Given the description of an element on the screen output the (x, y) to click on. 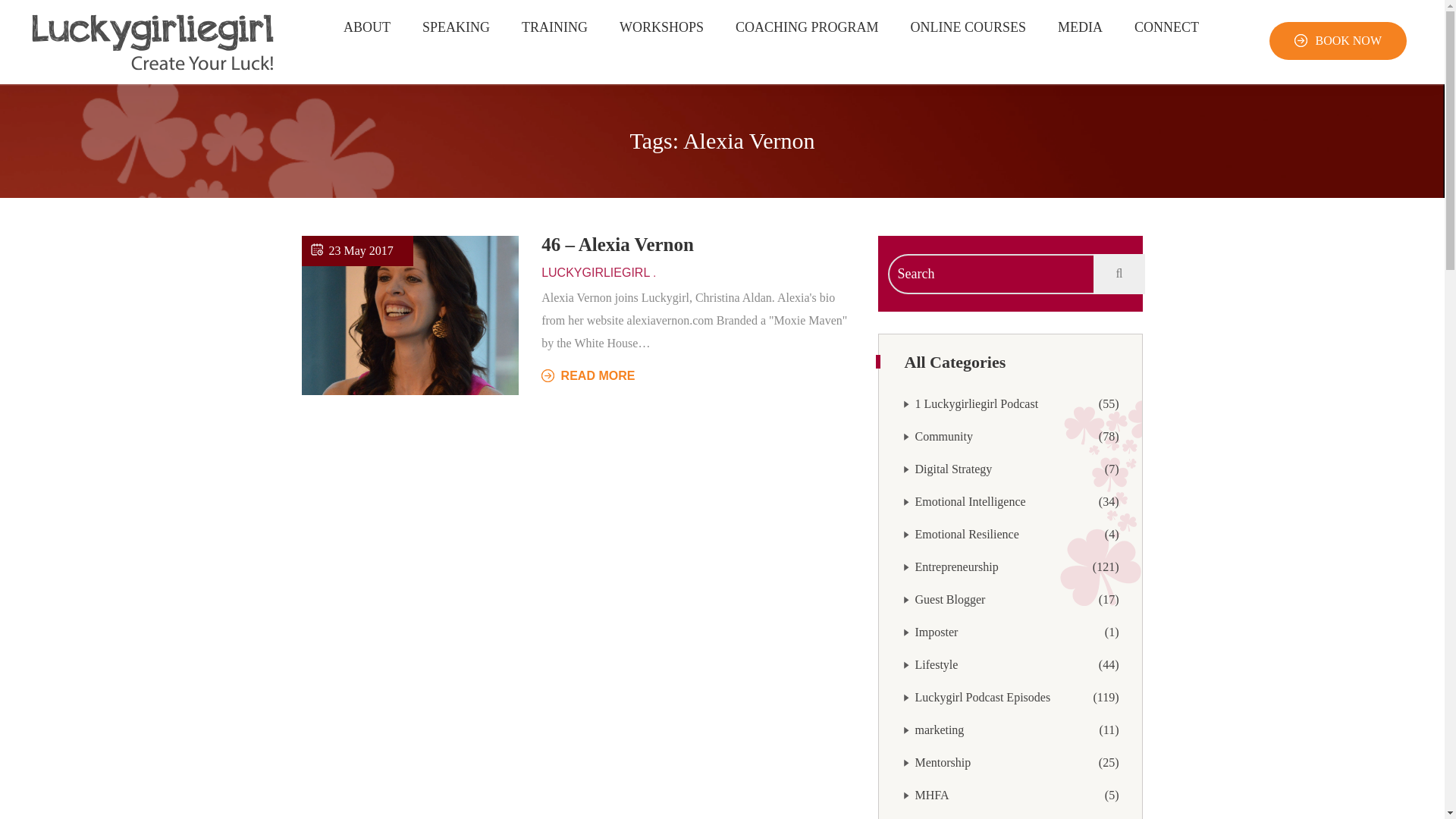
BOOK NOW (961, 533)
ONLINE COURSES (1347, 40)
WORKSHOPS (968, 27)
COACHING PROGRAM (661, 27)
ABOUT (807, 27)
MEDIA (931, 664)
